Given the description of an element on the screen output the (x, y) to click on. 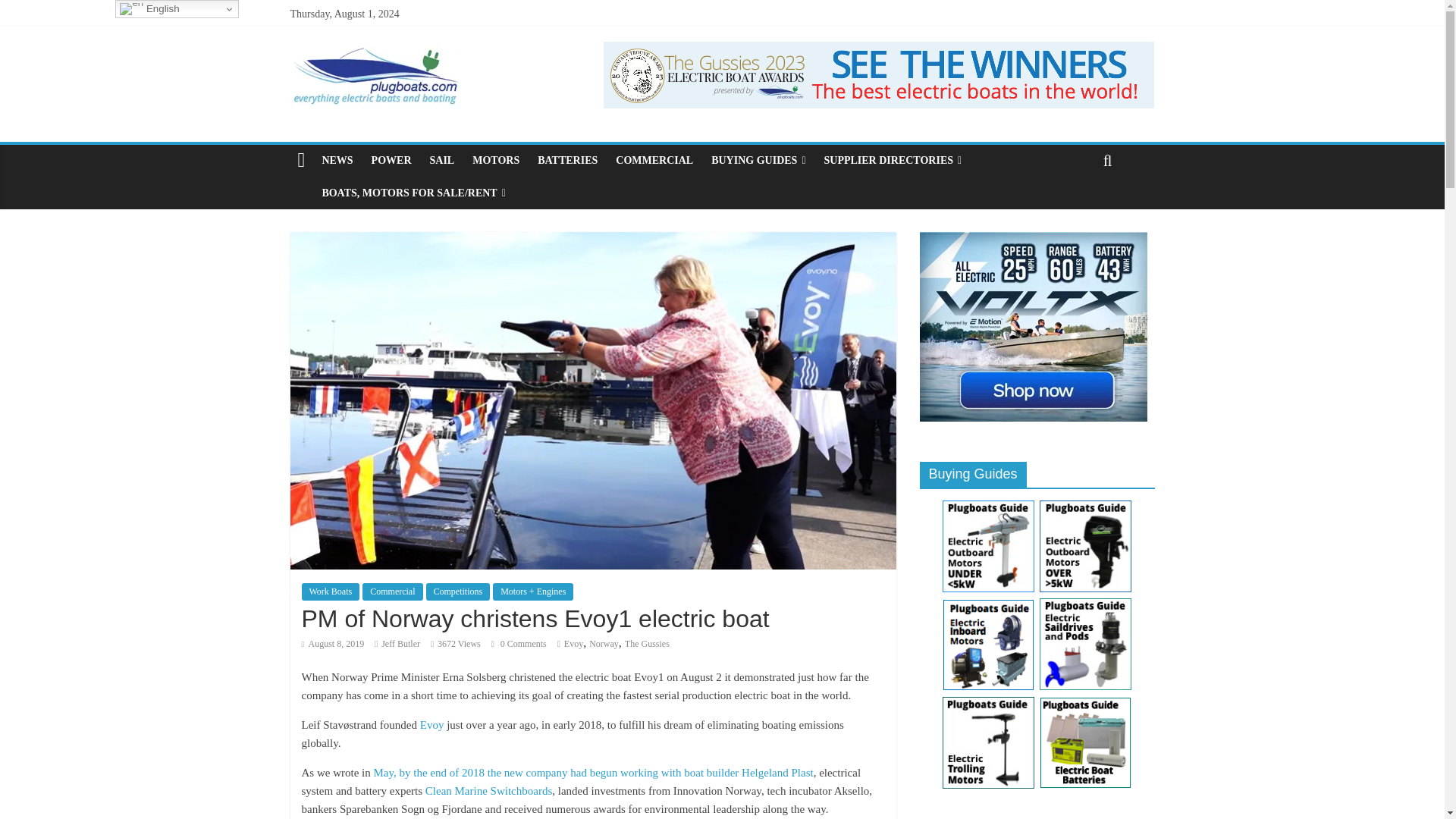
August 8, 2019 (333, 643)
9:53 am (333, 643)
BATTERIES (567, 160)
SUPPLIER DIRECTORIES (892, 160)
Work Boats (330, 591)
Competitions (458, 591)
NEWS (337, 160)
Jeff Butler (400, 643)
SAIL (441, 160)
MOTORS (495, 160)
COMMERCIAL (654, 160)
Jeff Butler (400, 643)
Commercial (392, 591)
POWER (391, 160)
BUYING GUIDES (757, 160)
